Given the description of an element on the screen output the (x, y) to click on. 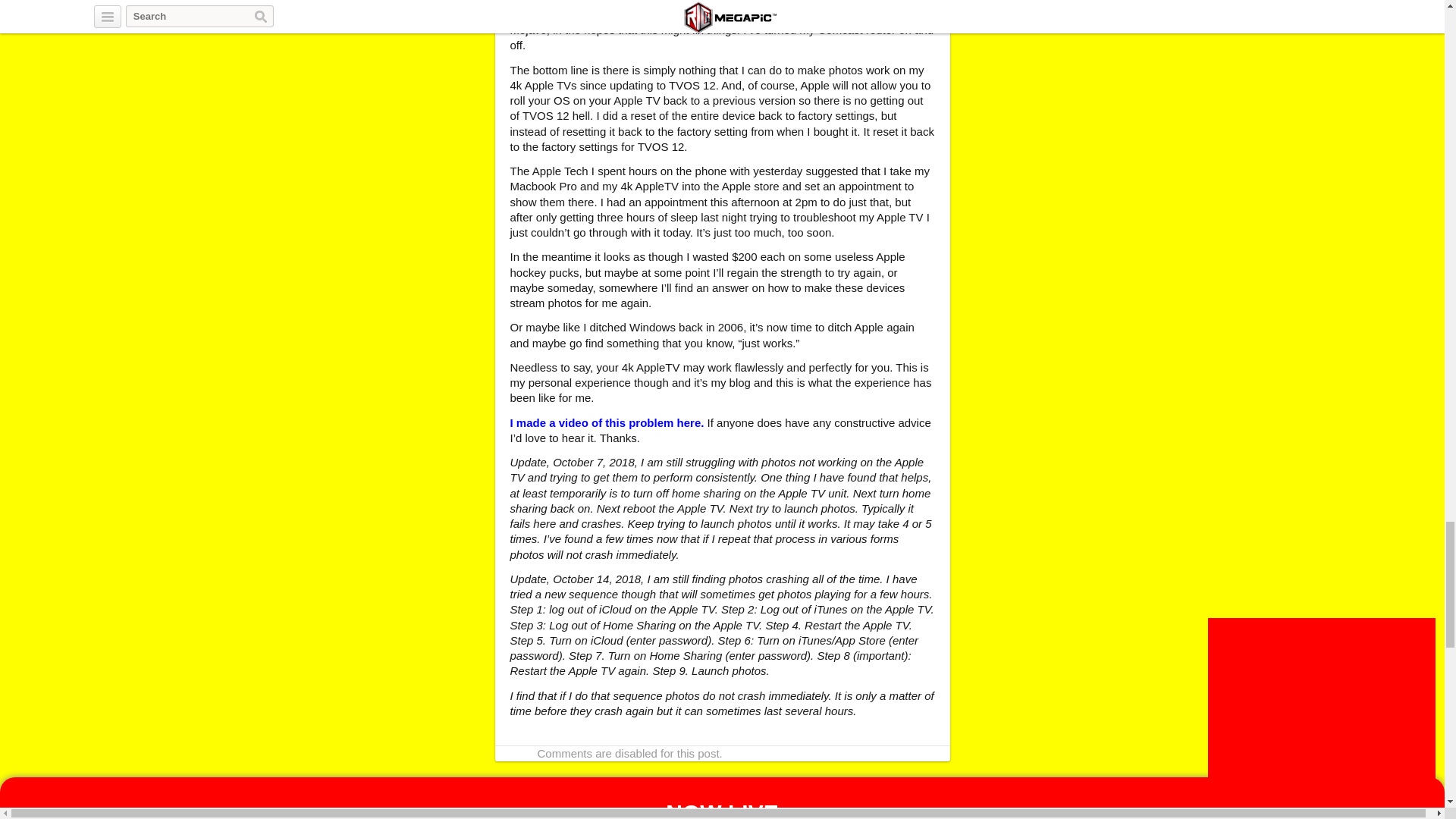
I made a video of this problem here. (606, 421)
